Given the description of an element on the screen output the (x, y) to click on. 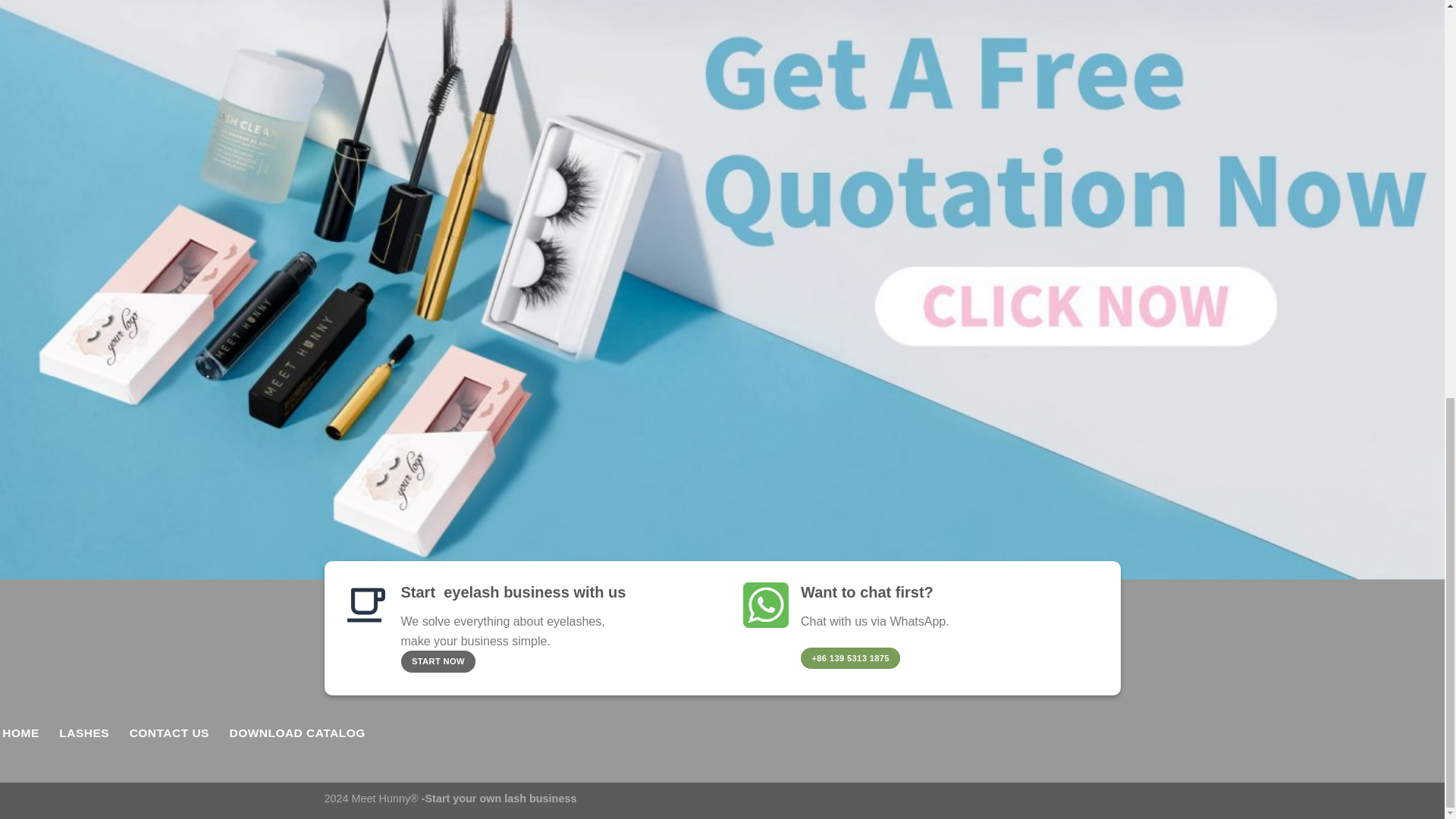
DOWNLOAD CATALOG (297, 732)
CONTACT US (168, 732)
LASHES (84, 732)
HOME (21, 732)
START NOW (438, 661)
